Given the description of an element on the screen output the (x, y) to click on. 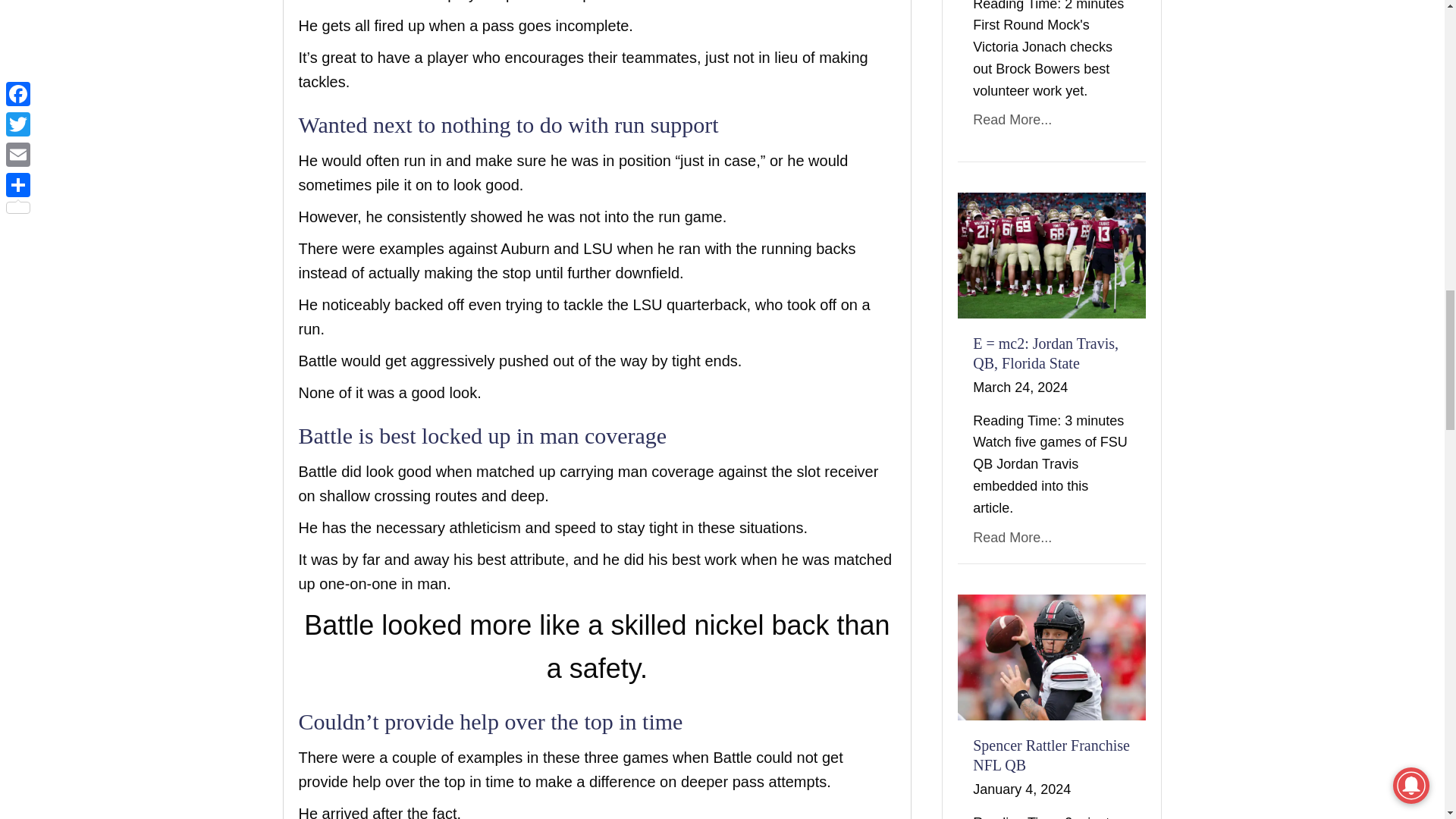
Read More... (1011, 119)
